Given the description of an element on the screen output the (x, y) to click on. 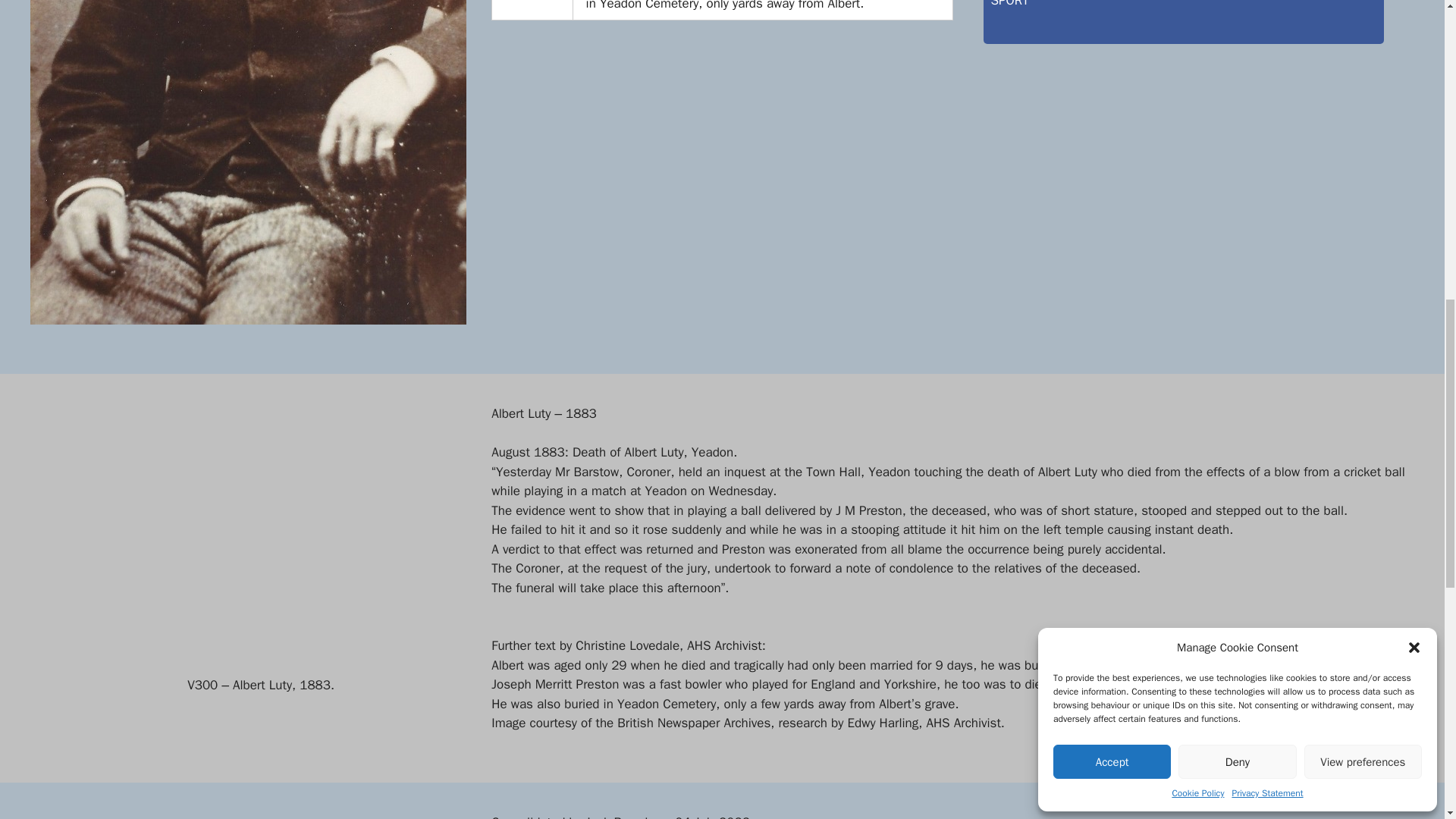
Scroll back to top (1406, 666)
